Given the description of an element on the screen output the (x, y) to click on. 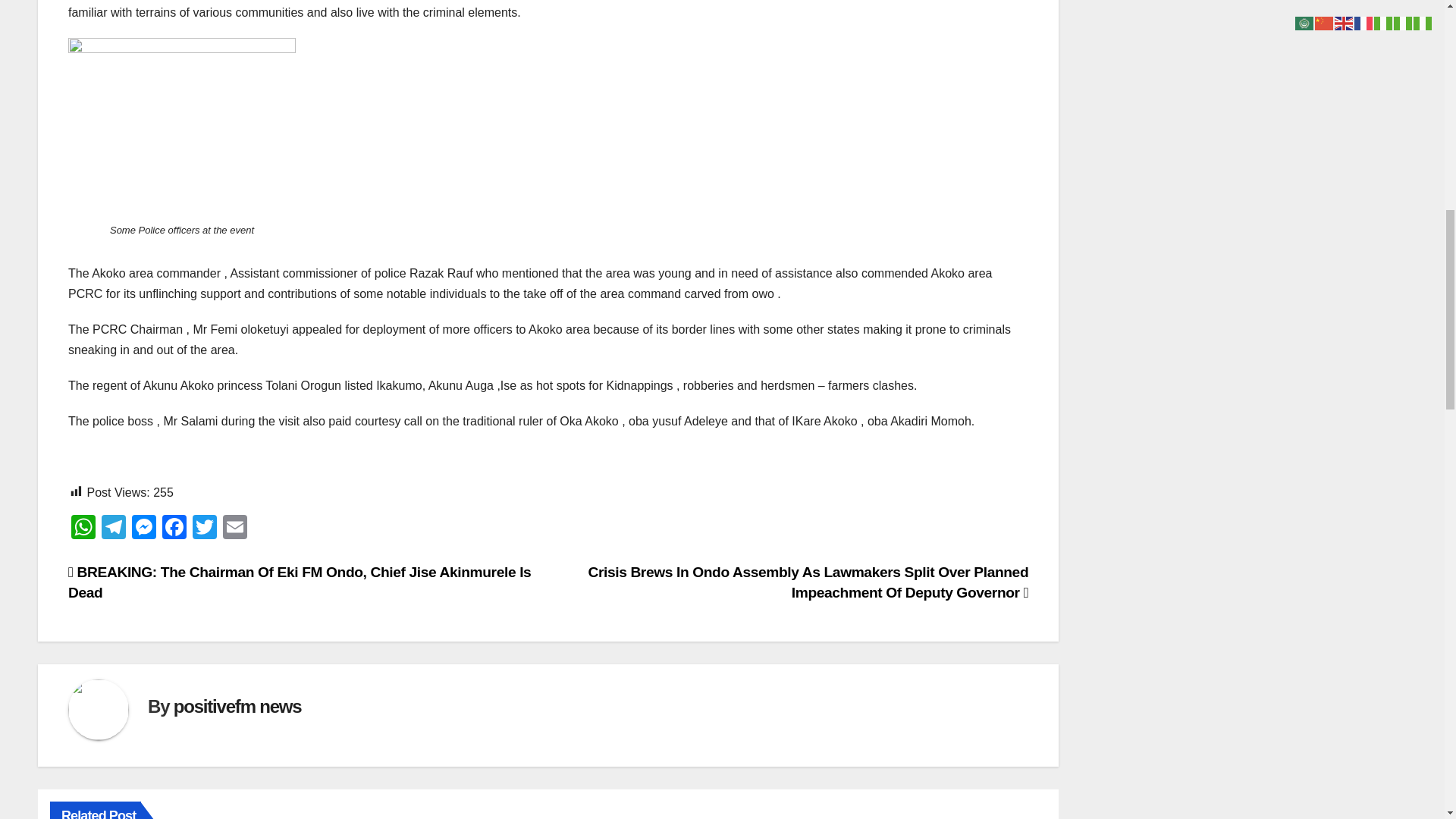
Twitter (204, 528)
Facebook (173, 528)
Messenger (143, 528)
Email (234, 528)
WhatsApp (83, 528)
Telegram (114, 528)
